Given the description of an element on the screen output the (x, y) to click on. 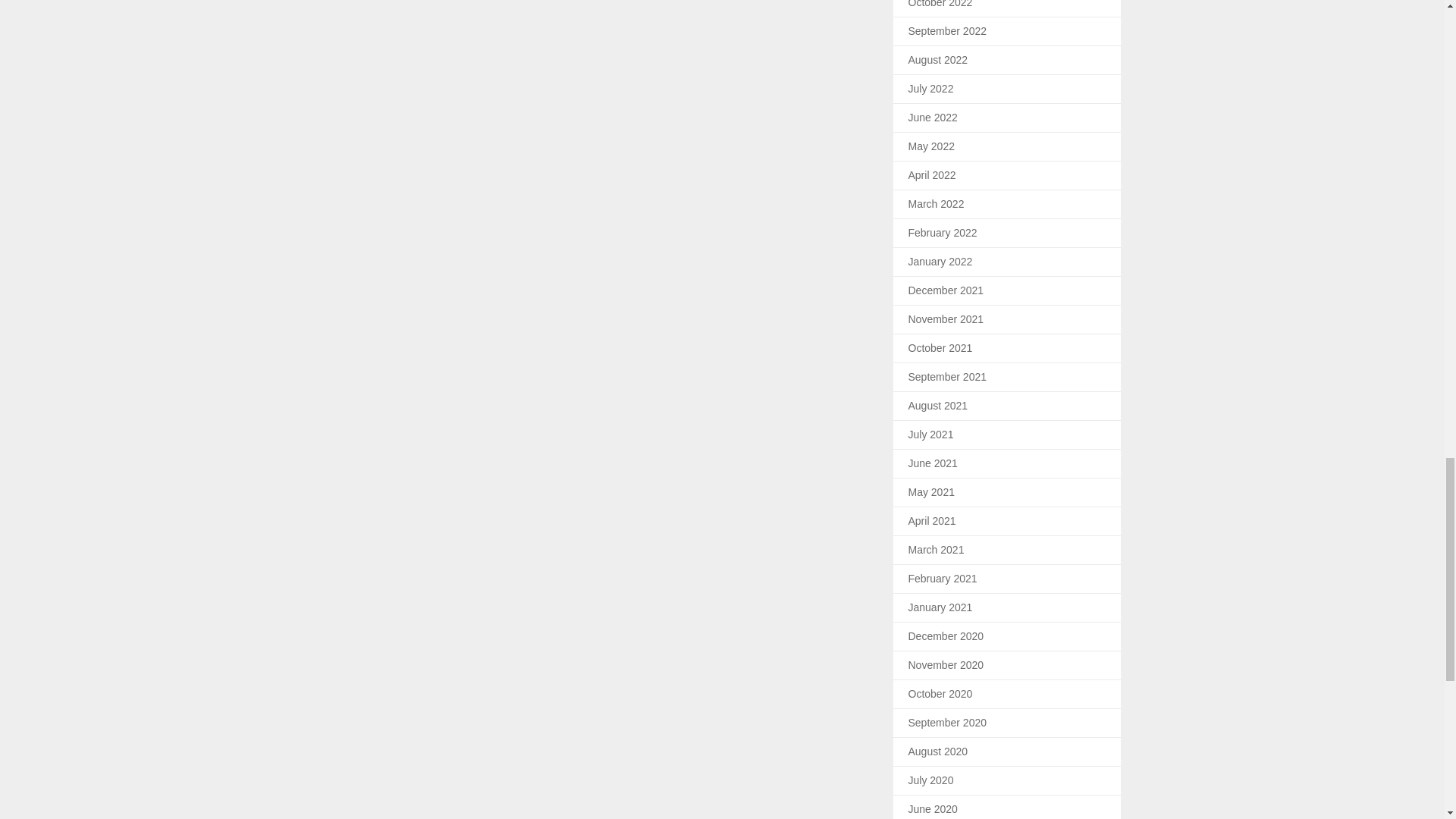
October 2022 (940, 4)
September 2022 (947, 30)
August 2022 (938, 60)
